Given the description of an element on the screen output the (x, y) to click on. 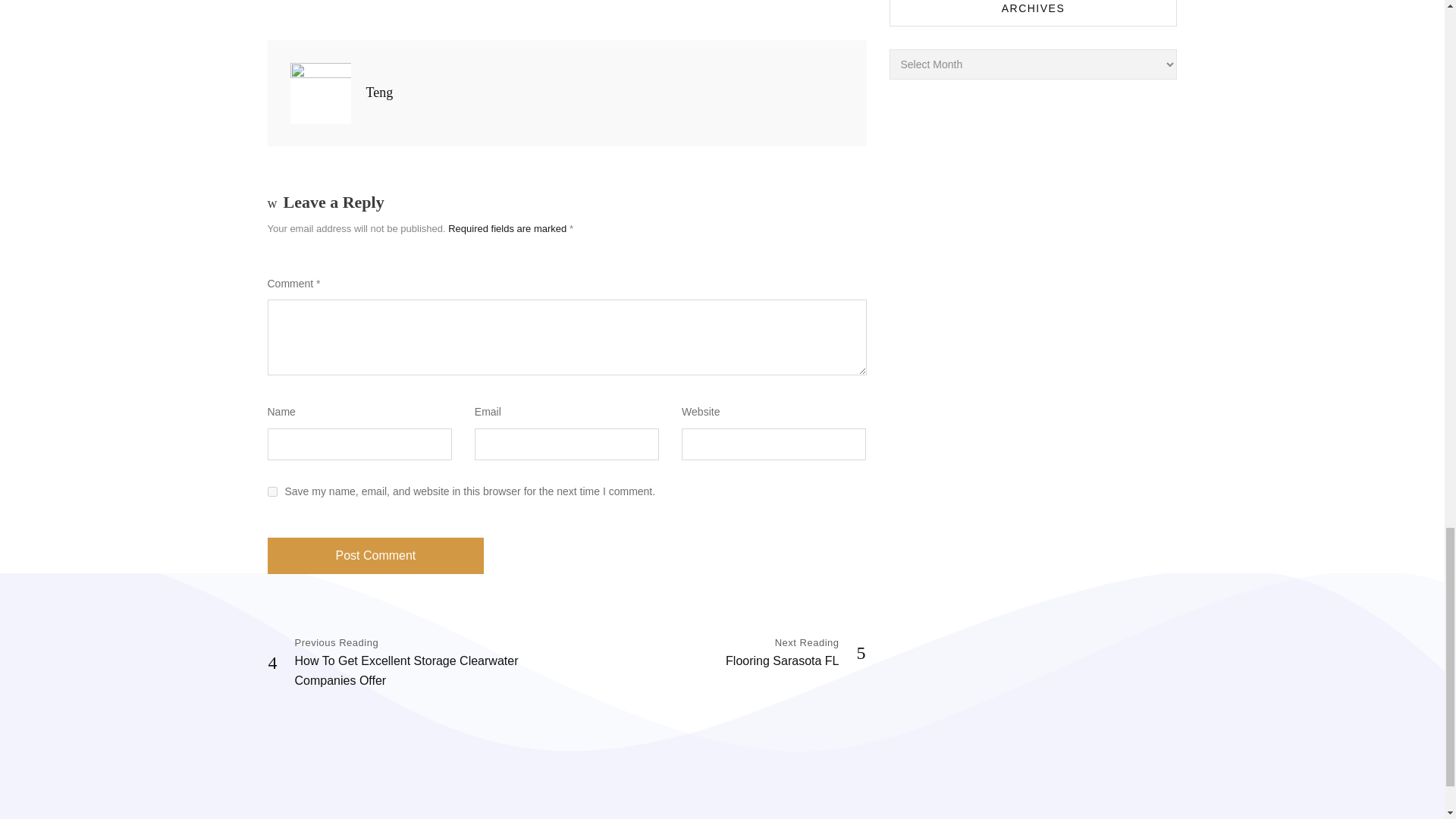
yes (271, 491)
Post Comment (374, 555)
Post Comment (794, 652)
